Given the description of an element on the screen output the (x, y) to click on. 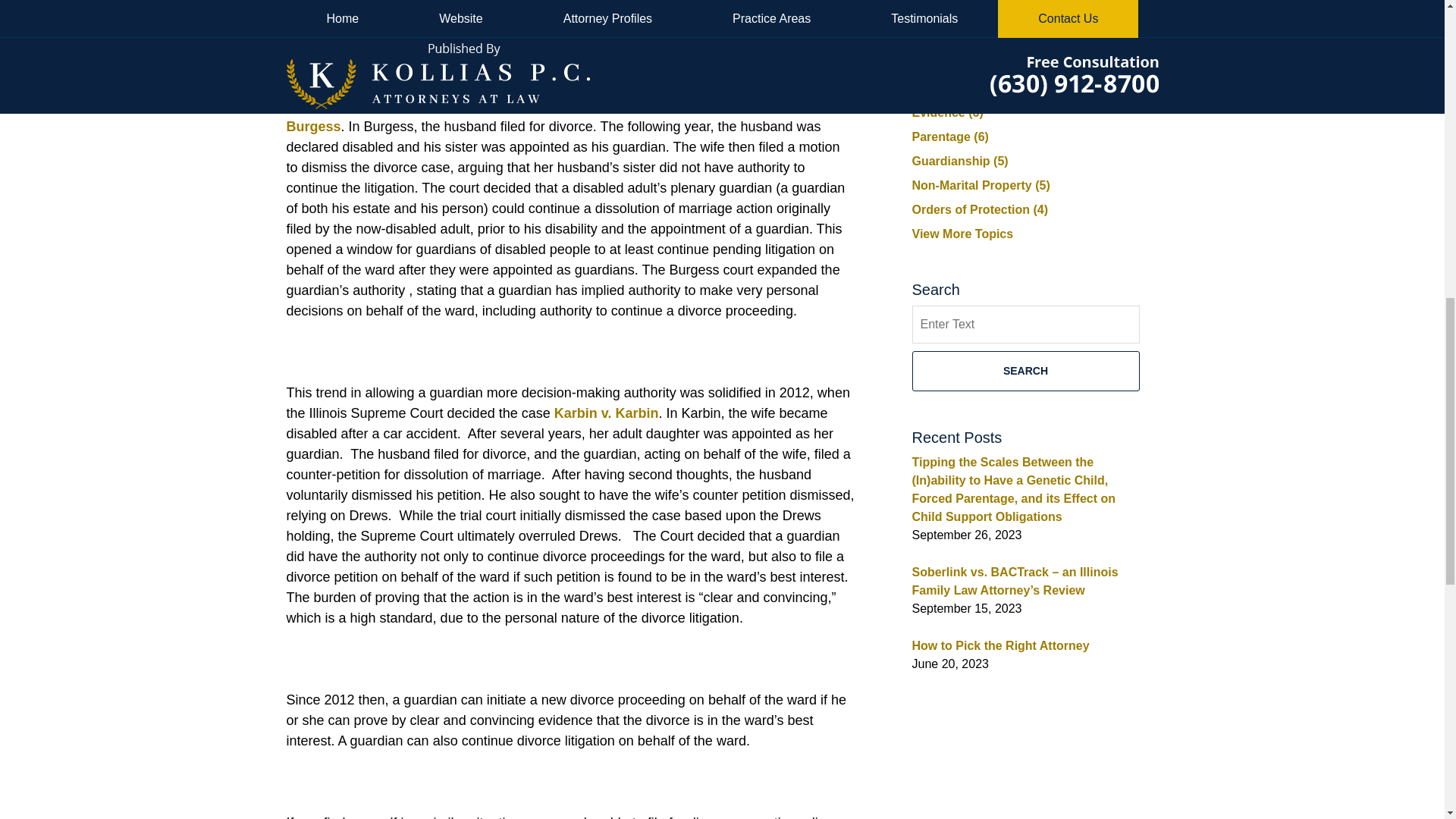
Karbin v. Karbin (606, 412)
Probate Act (324, 44)
Marriage of Burgess (542, 116)
